Given the description of an element on the screen output the (x, y) to click on. 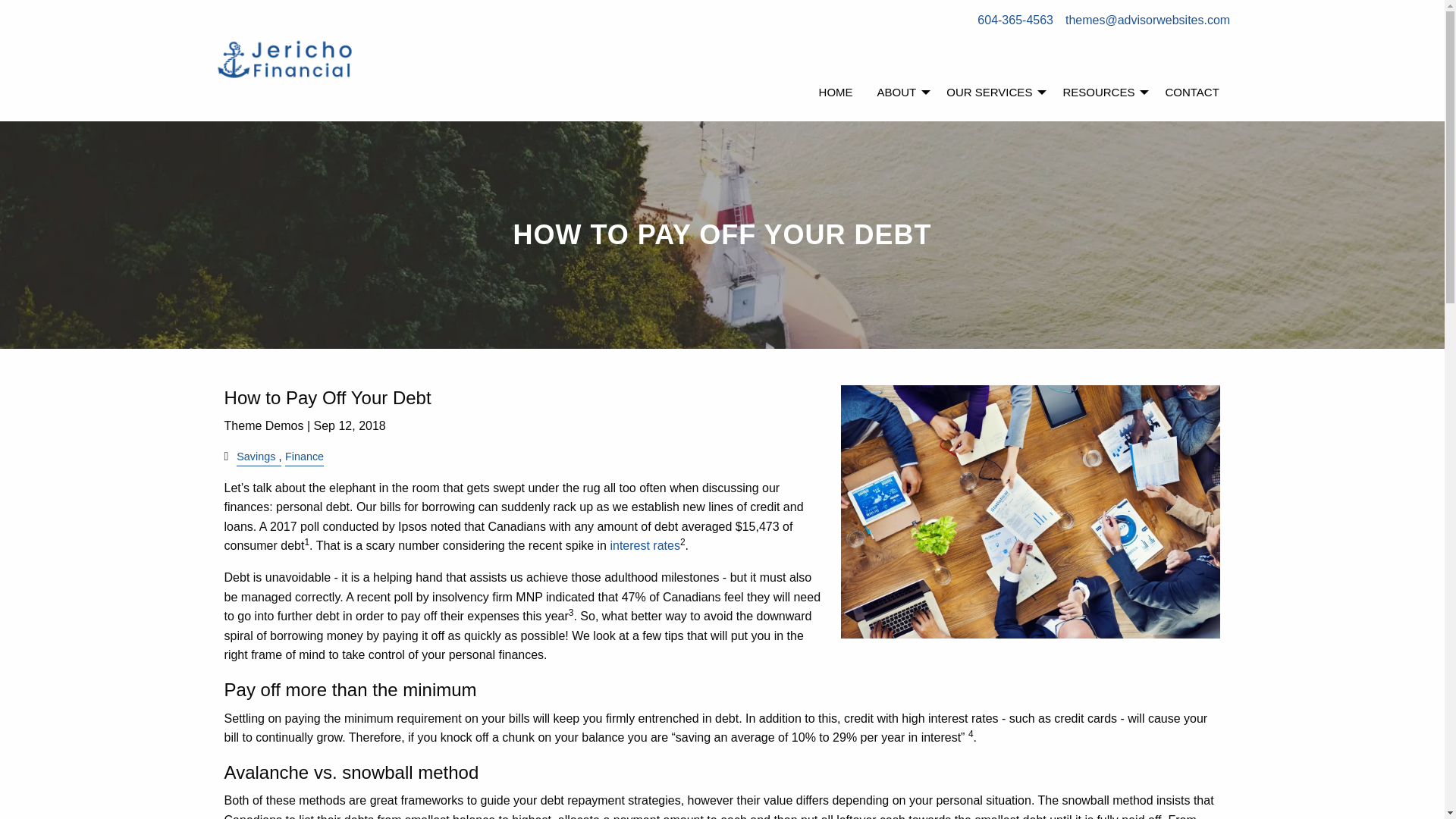
RESOURCES (1101, 92)
HOME (835, 92)
ABOUT (899, 92)
OUR SERVICES (991, 92)
CONTACT (1191, 92)
Savings (255, 456)
604-365-4563 (1014, 20)
Finance (304, 456)
interest rates (644, 545)
